Given the description of an element on the screen output the (x, y) to click on. 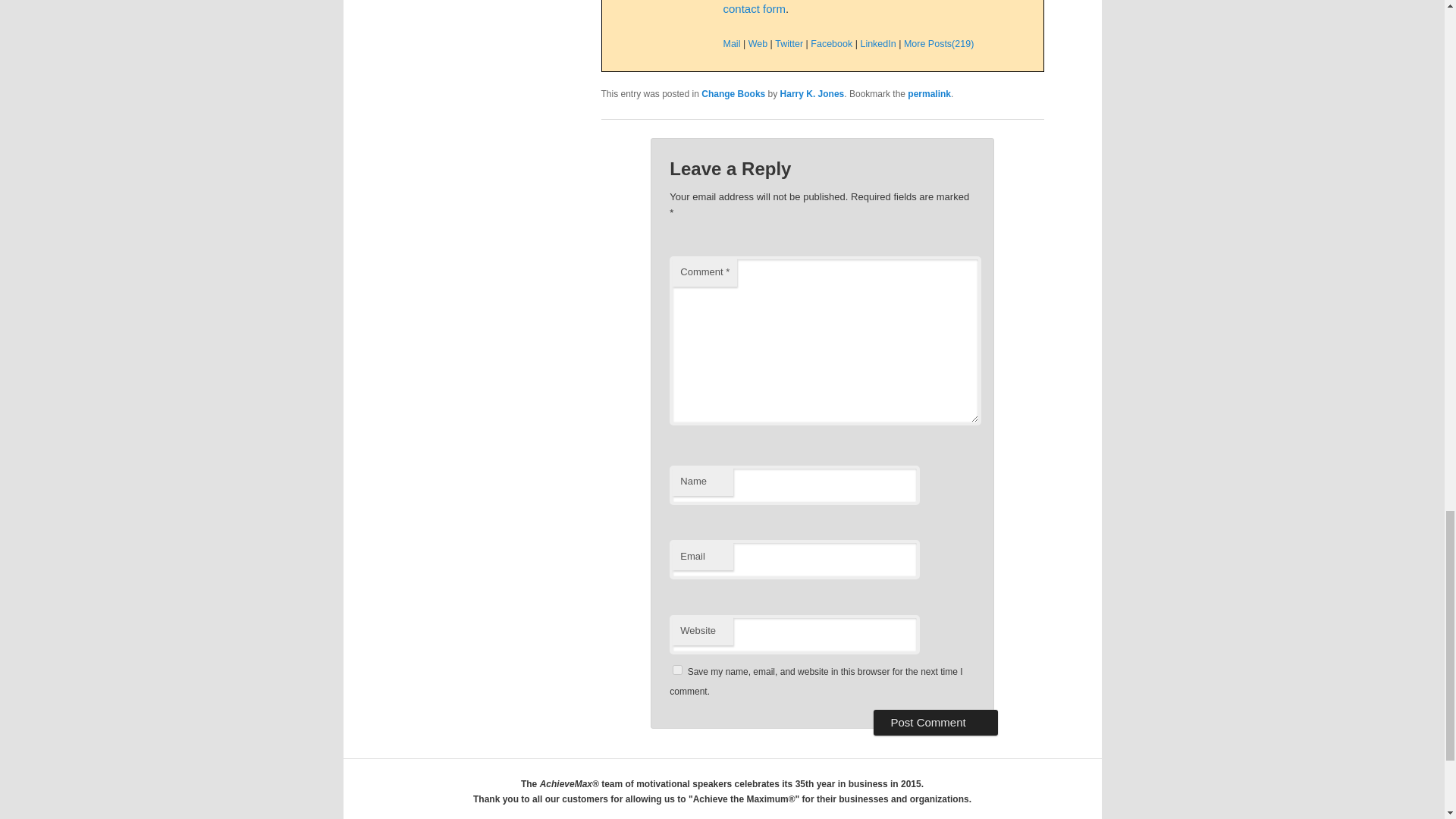
Send Harry K. Jones Mail (732, 43)
Facebook (830, 43)
Permalink to Survival Is Not Enough (928, 93)
Harry K. Jones On LinkedIn (877, 43)
Harry K. Jones On Facebook (830, 43)
LinkedIn (877, 43)
Web (757, 43)
Mail (732, 43)
yes (677, 669)
Harry K. Jones On Twitter (788, 43)
